Given the description of an element on the screen output the (x, y) to click on. 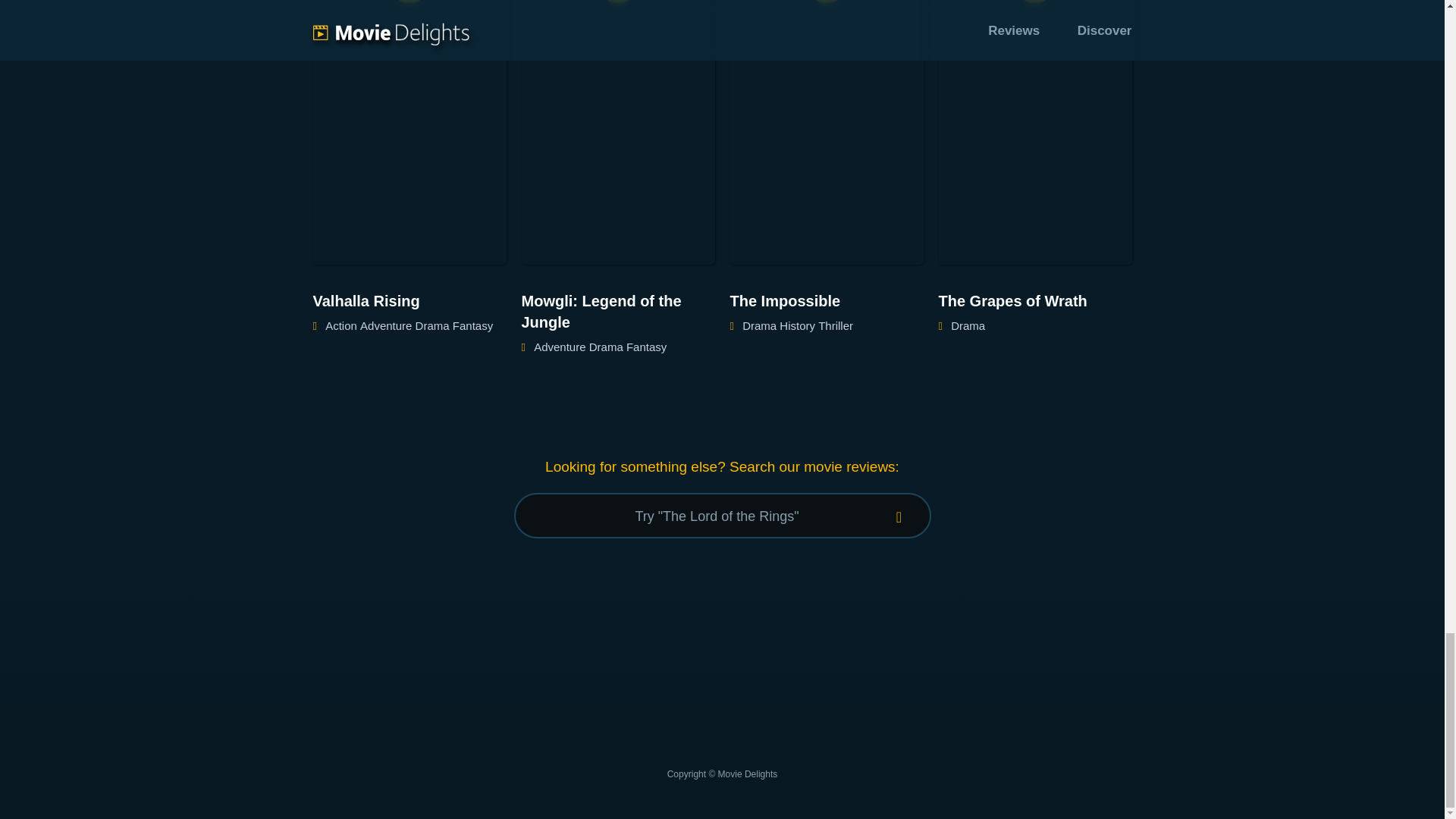
Drama (431, 325)
The Impossible (826, 301)
 genre movie reviews (385, 325)
The Grapes of Wrath (1035, 301)
Drama (967, 325)
 genre movie reviews (559, 346)
 genre movie reviews (340, 325)
 genre movie reviews (646, 346)
Mowgli: Legend of the Jungle (617, 311)
Drama (759, 325)
 genre movie reviews (967, 325)
Adventure (385, 325)
History (796, 325)
The Grapes of Wrath movie review (1035, 301)
 genre movie reviews (835, 325)
